Given the description of an element on the screen output the (x, y) to click on. 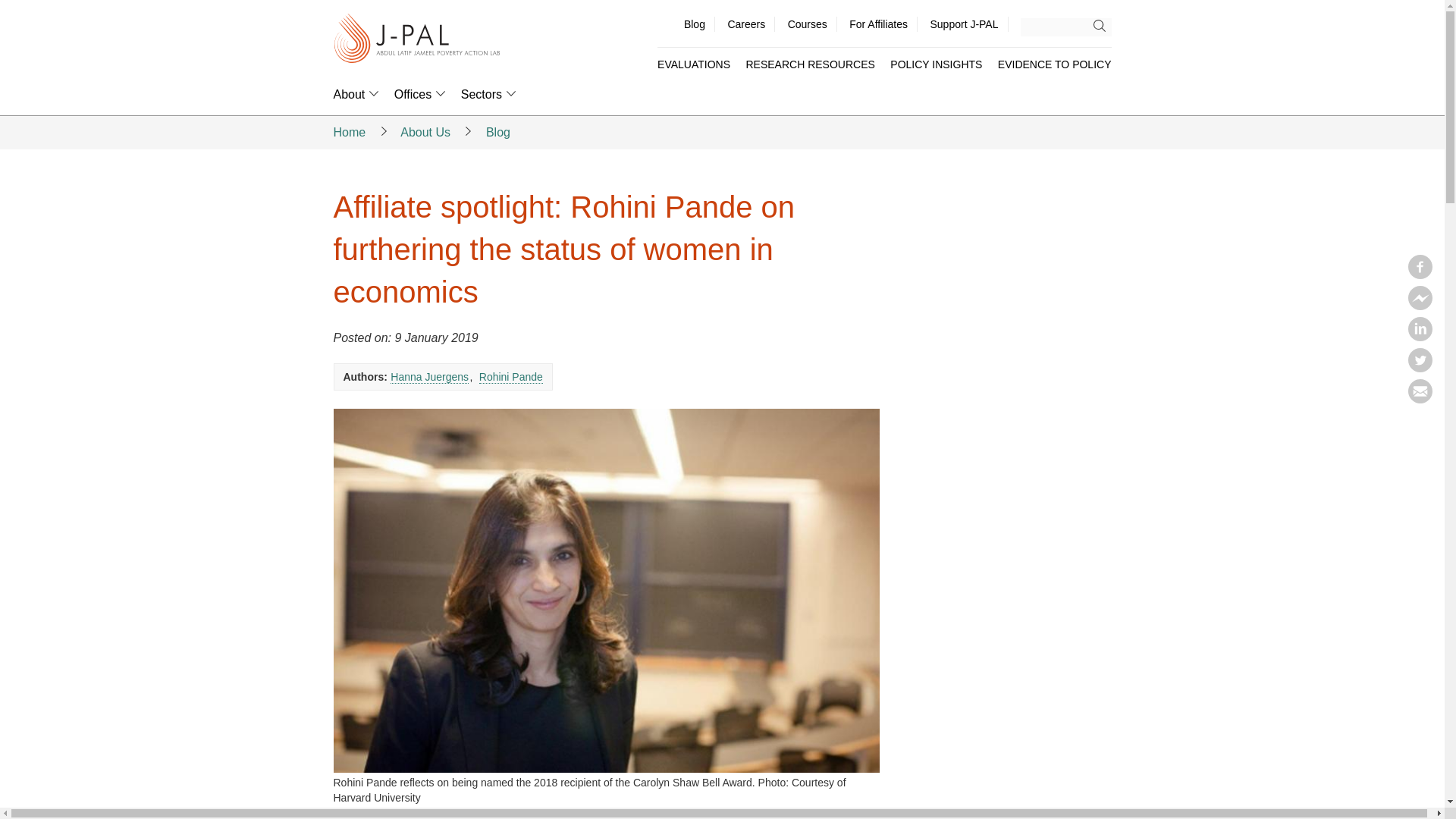
Search (1102, 25)
Facebook (1419, 274)
Linkedin (1419, 336)
J-PAL (416, 39)
Twitter (1419, 367)
Facebook messenger (1419, 305)
Email (1419, 399)
